Given the description of an element on the screen output the (x, y) to click on. 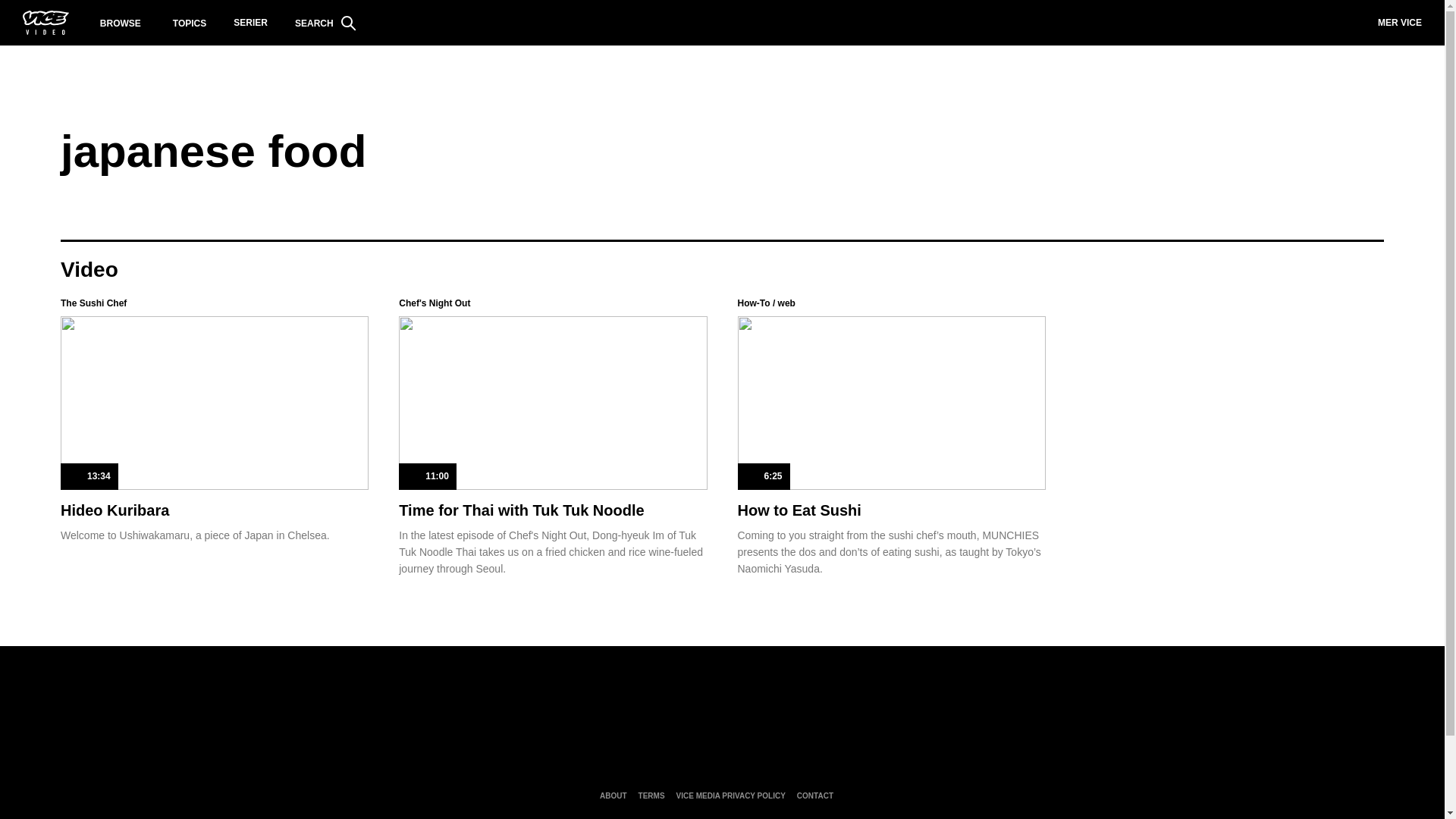
SEARCH (325, 23)
SERIER (250, 22)
BROWSE (120, 23)
TOPICS (189, 23)
MER VICE (1399, 22)
